Given the description of an element on the screen output the (x, y) to click on. 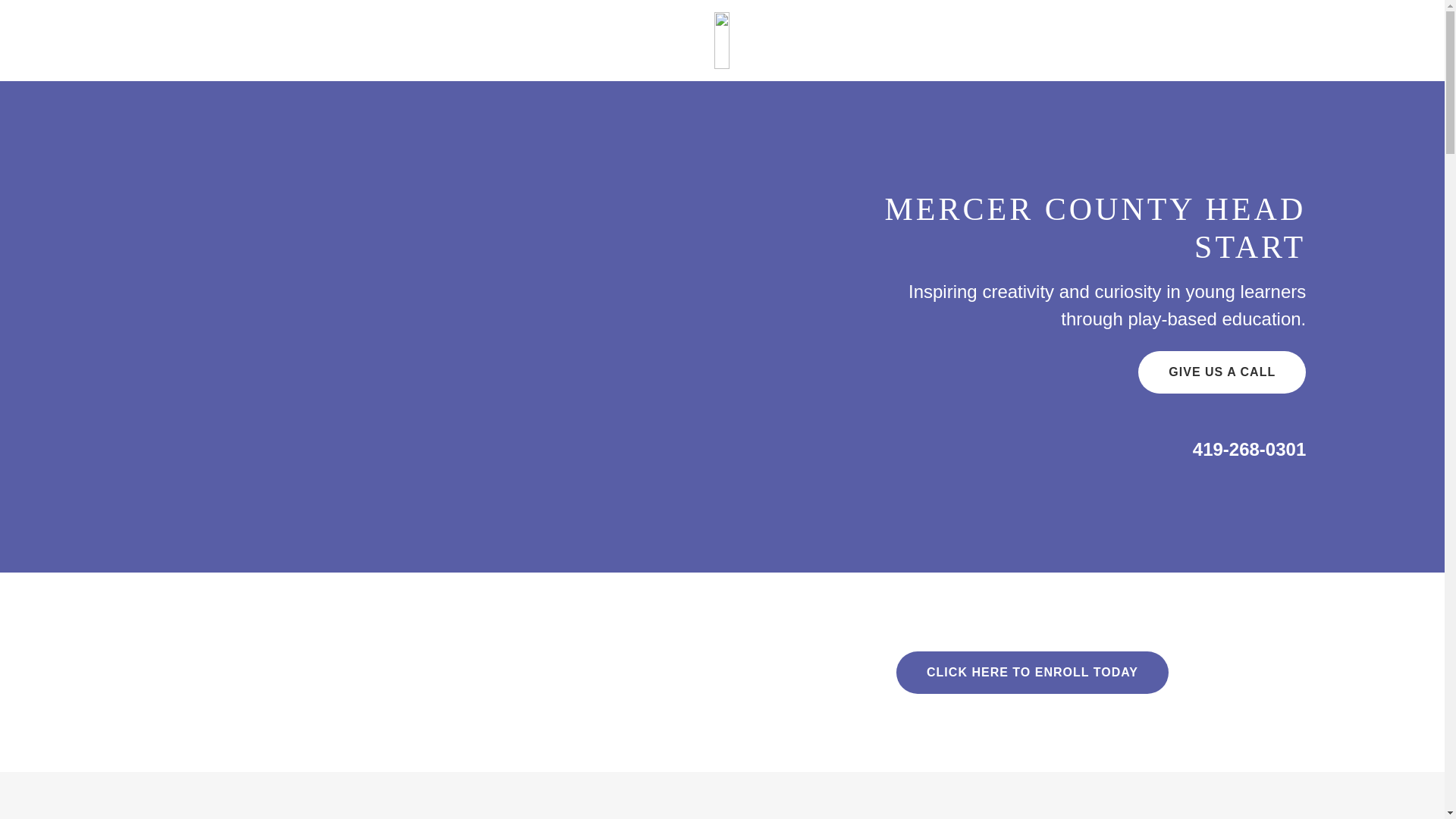
GIVE US A CALL (1222, 372)
CLICK HERE TO ENROLL TODAY (1032, 672)
419-268-0301 (1249, 448)
